Given the description of an element on the screen output the (x, y) to click on. 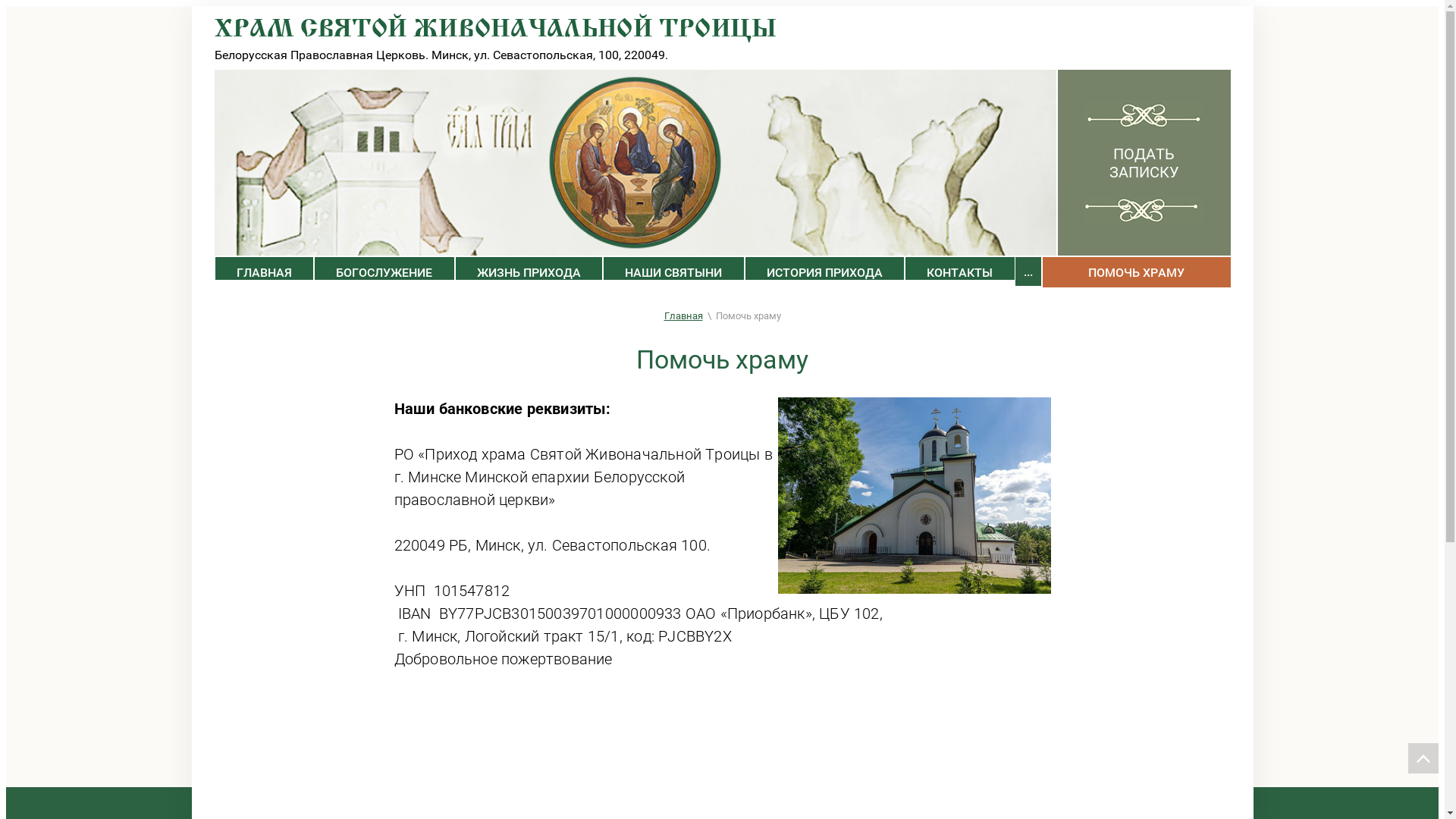
... Element type: text (1028, 271)
